Given the description of an element on the screen output the (x, y) to click on. 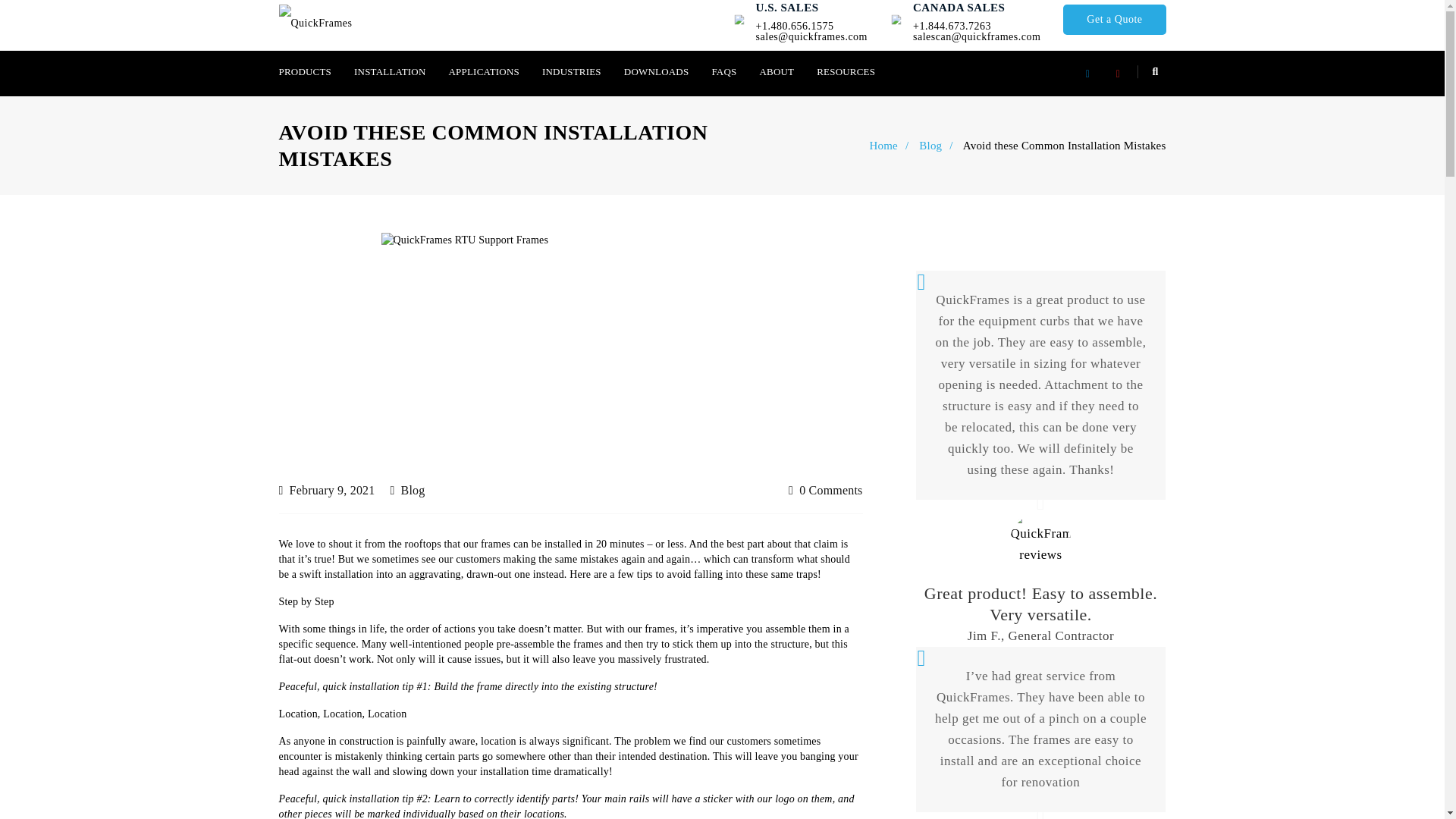
QuickFrames (315, 24)
QuickFrames (315, 23)
